Given the description of an element on the screen output the (x, y) to click on. 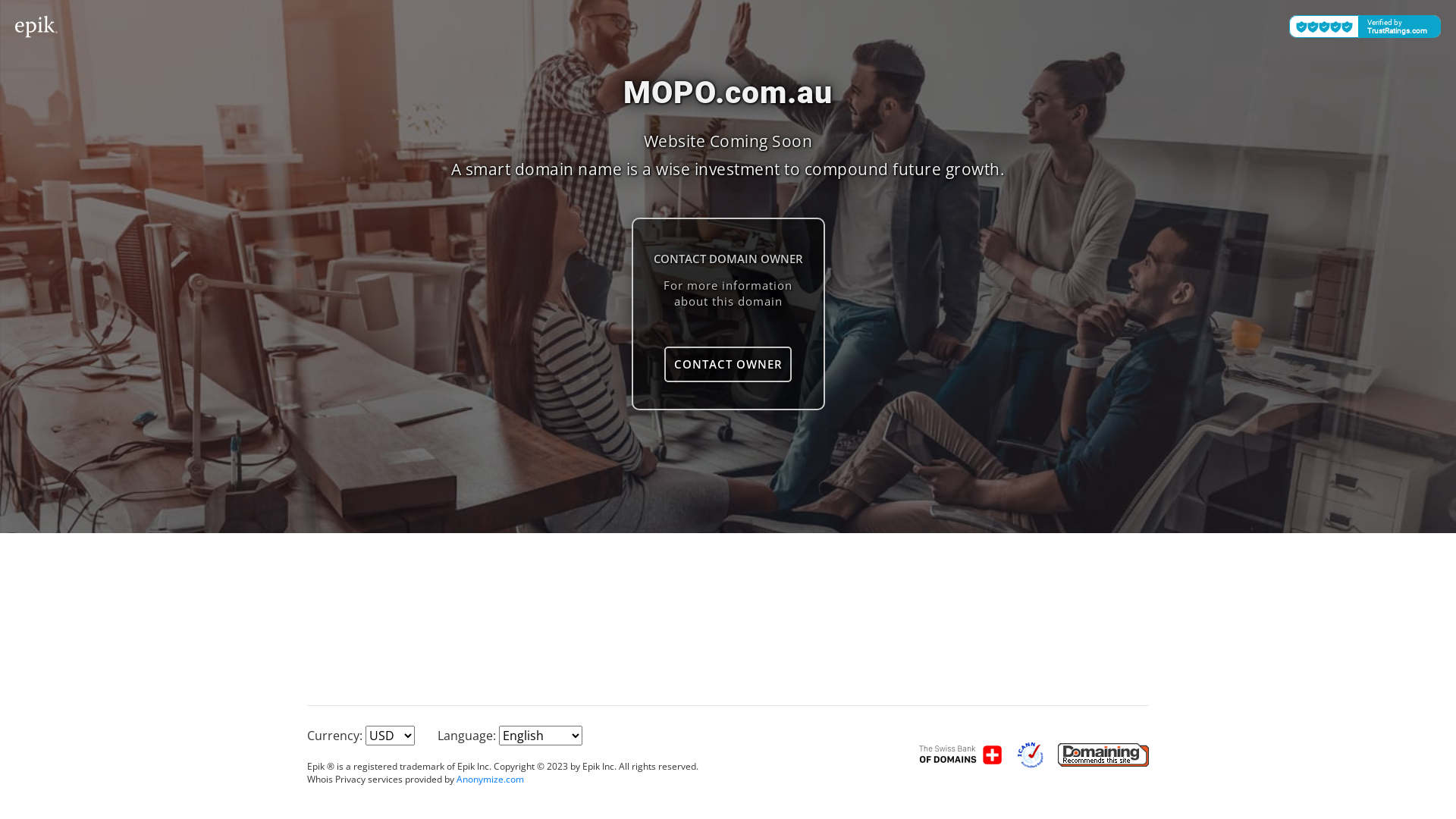
ICANN Element type: hover (1031, 753)
Domaining Element type: hover (1102, 753)
Epik Element type: hover (961, 753)
Verified by TrustRatings.com Element type: hover (1364, 26)
CONTACT OWNER Element type: text (727, 364)
Anonymize.com Element type: text (490, 778)
